Given the description of an element on the screen output the (x, y) to click on. 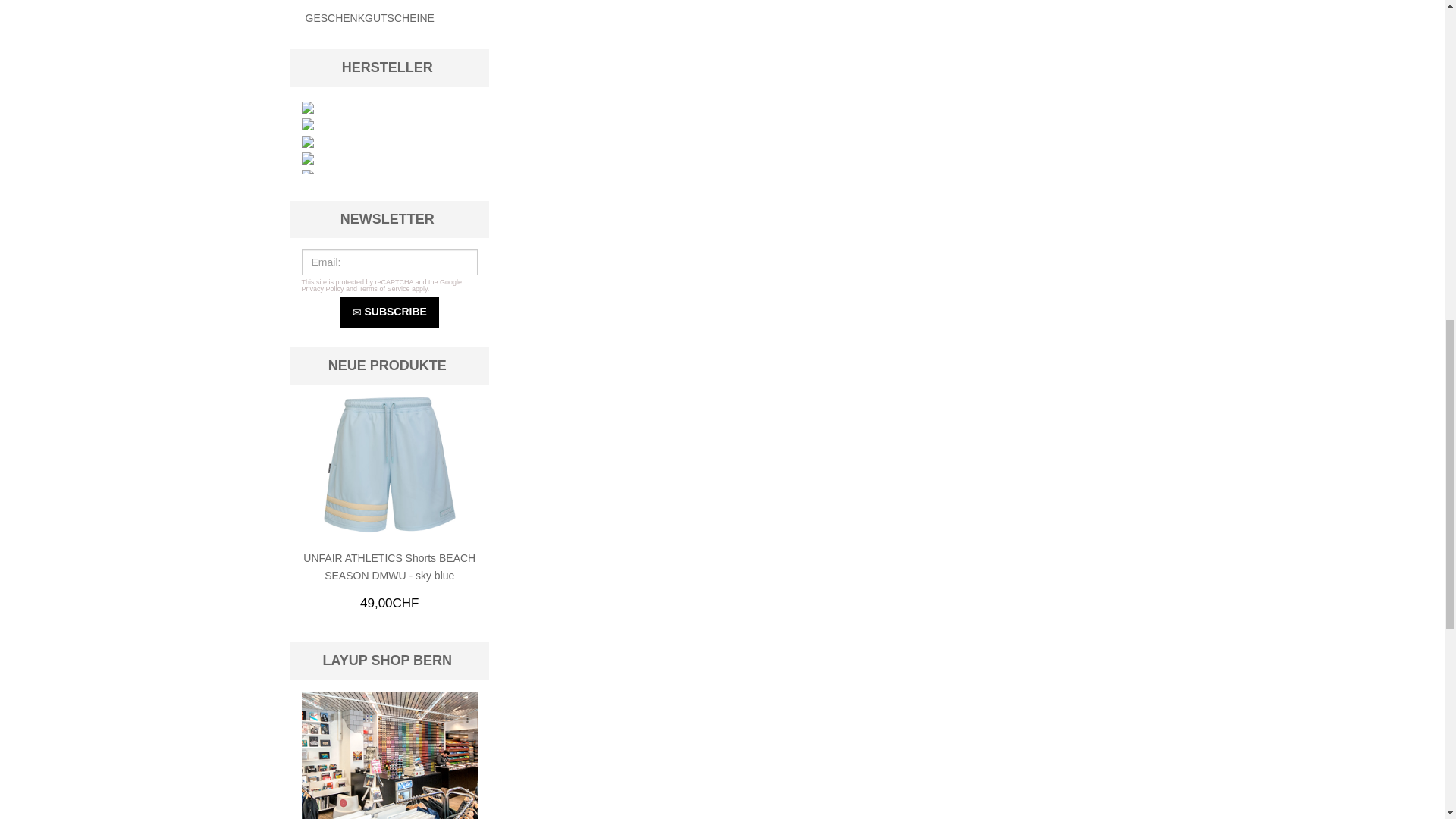
UNFAIR ATHLETICS Shorts BEACH SEASON DMWU - sky blue (389, 464)
